Given the description of an element on the screen output the (x, y) to click on. 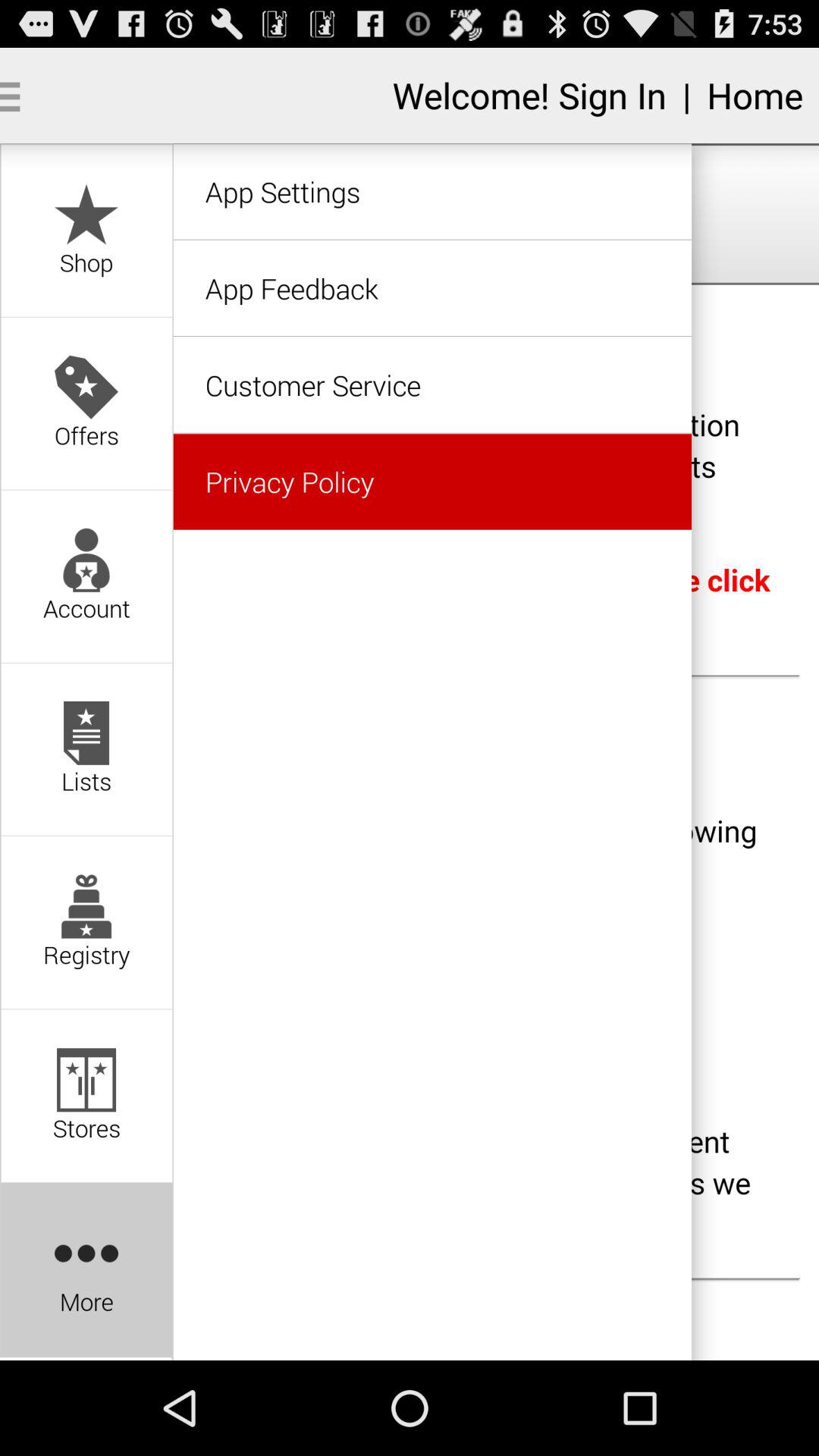
click on home (755, 95)
text before home option (529, 95)
option above offers (86, 231)
